Given the description of an element on the screen output the (x, y) to click on. 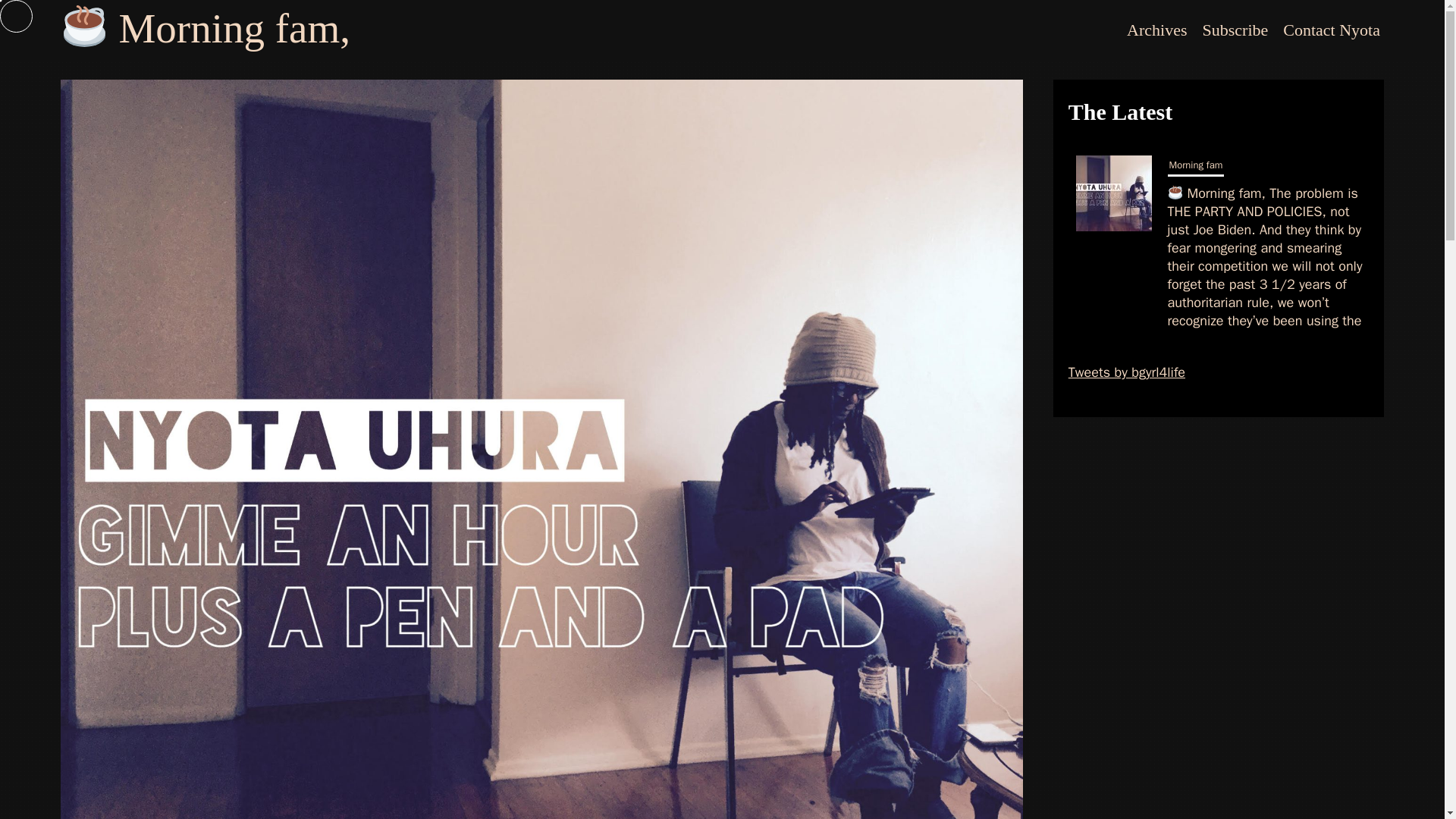
Archives (1156, 30)
Contact Nyota (1331, 30)
Tweets by bgyrl4life (1126, 371)
Morning fam, (205, 27)
Morning fam (1195, 166)
Subscribe (1235, 30)
